Given the description of an element on the screen output the (x, y) to click on. 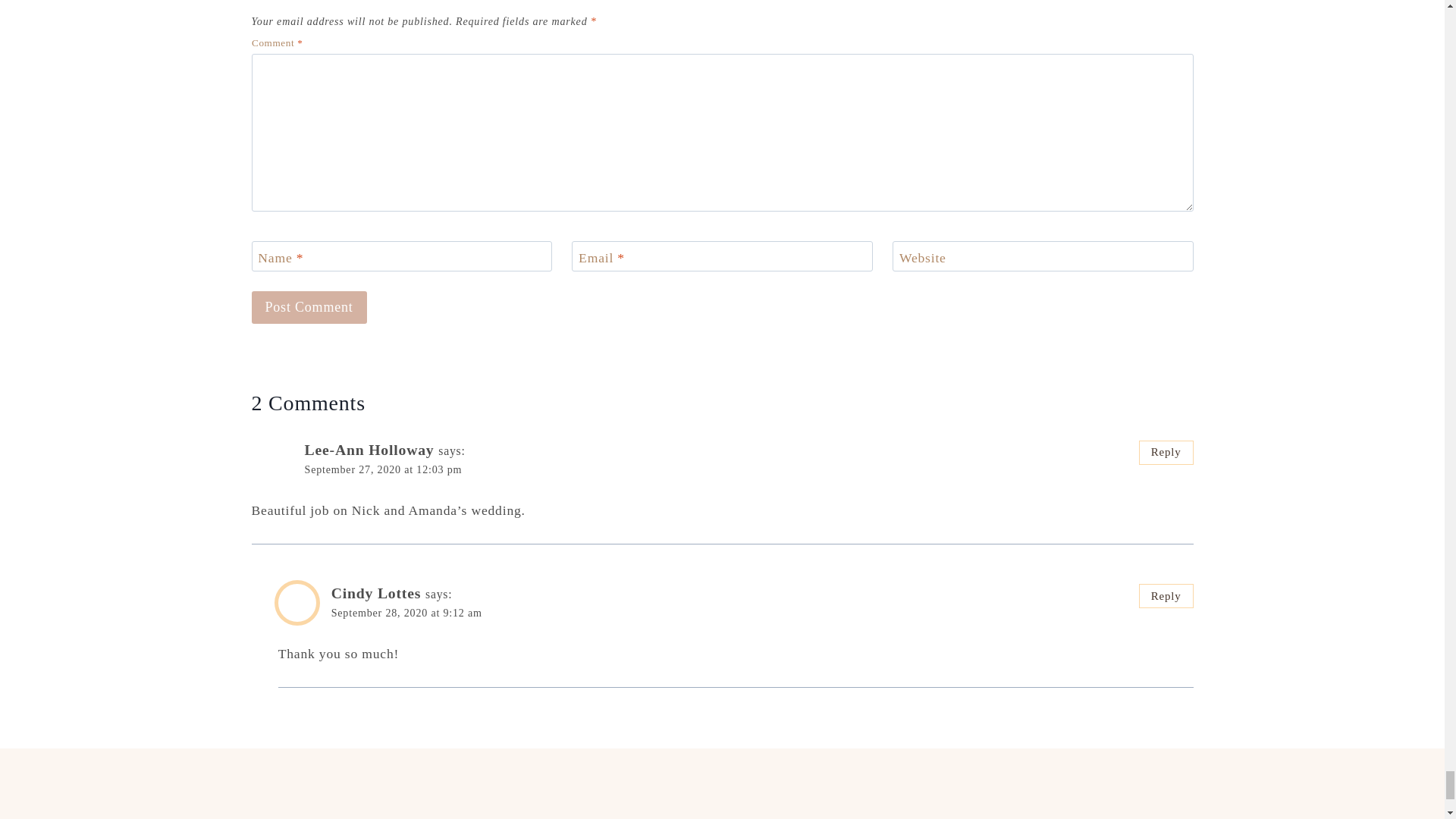
Post Comment (308, 307)
homepage (721, 792)
